Given the description of an element on the screen output the (x, y) to click on. 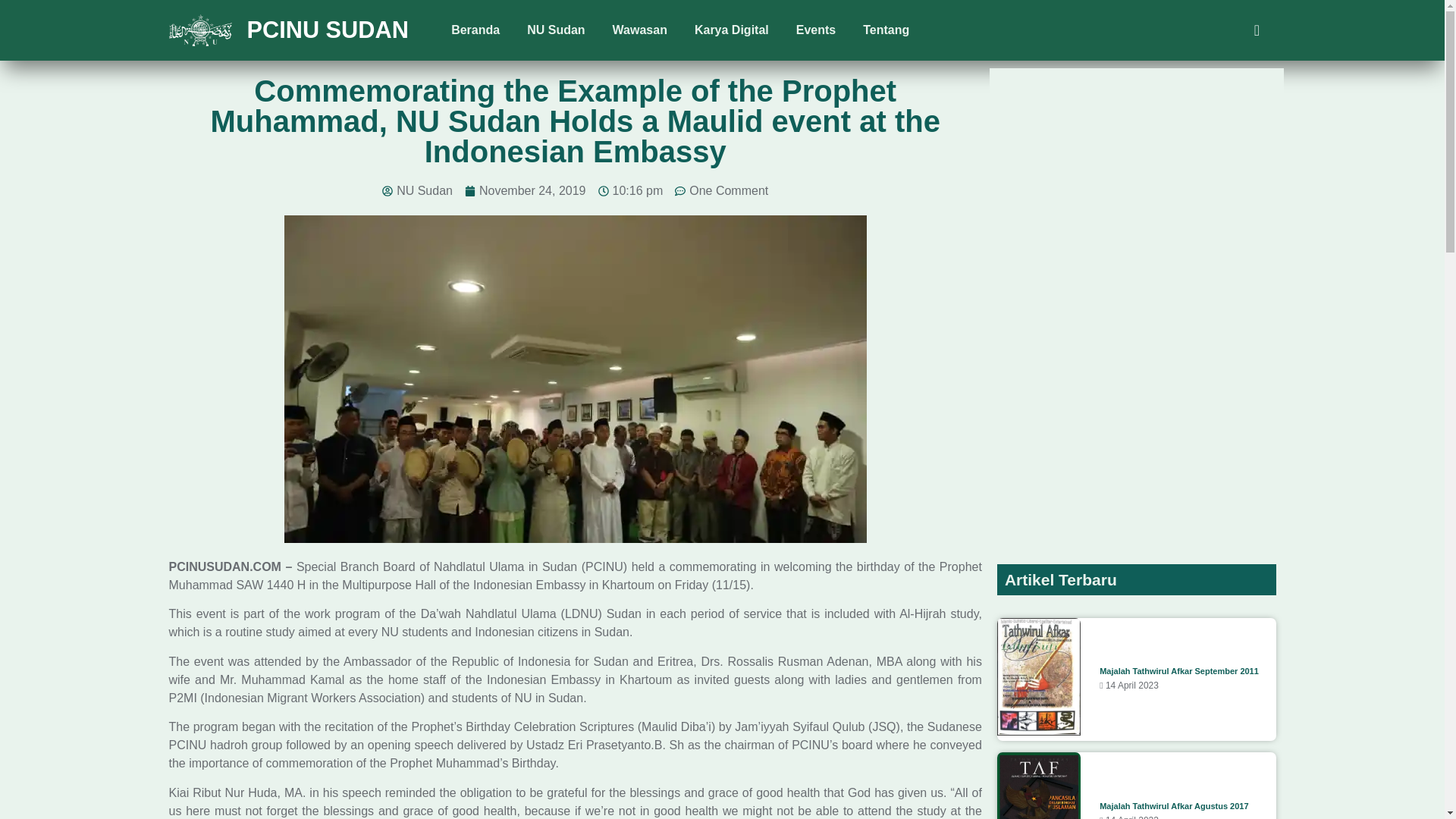
Majalah Tathwirul Afkar September 2011 (1179, 670)
Karya Digital (732, 30)
One Comment (721, 190)
November 24, 2019 (525, 190)
NU Sudan (416, 190)
NU Sudan (555, 30)
Events (815, 30)
Wawasan (639, 30)
Majalah Tathwirul Afkar Agustus 2017 (1173, 805)
Tentang (885, 30)
